Given the description of an element on the screen output the (x, y) to click on. 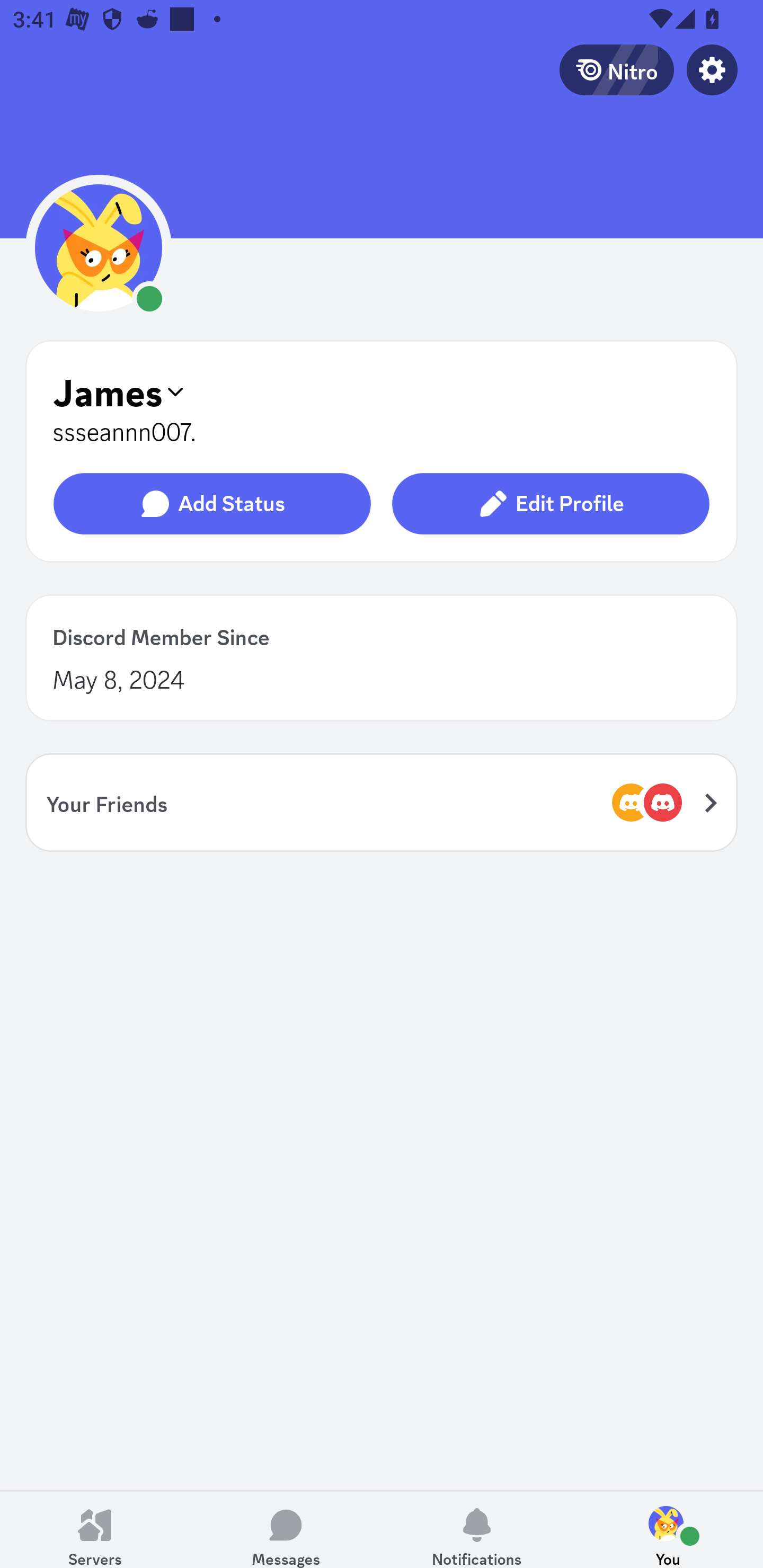
Nitro (616, 69)
Settings (711, 69)
Change Online Status (98, 275)
James (381, 390)
Add Status (212, 503)
Edit Profile (550, 503)
Your Friends (381, 801)
Servers (95, 1529)
Messages (285, 1529)
Notifications (476, 1529)
You (667, 1529)
